Given the description of an element on the screen output the (x, y) to click on. 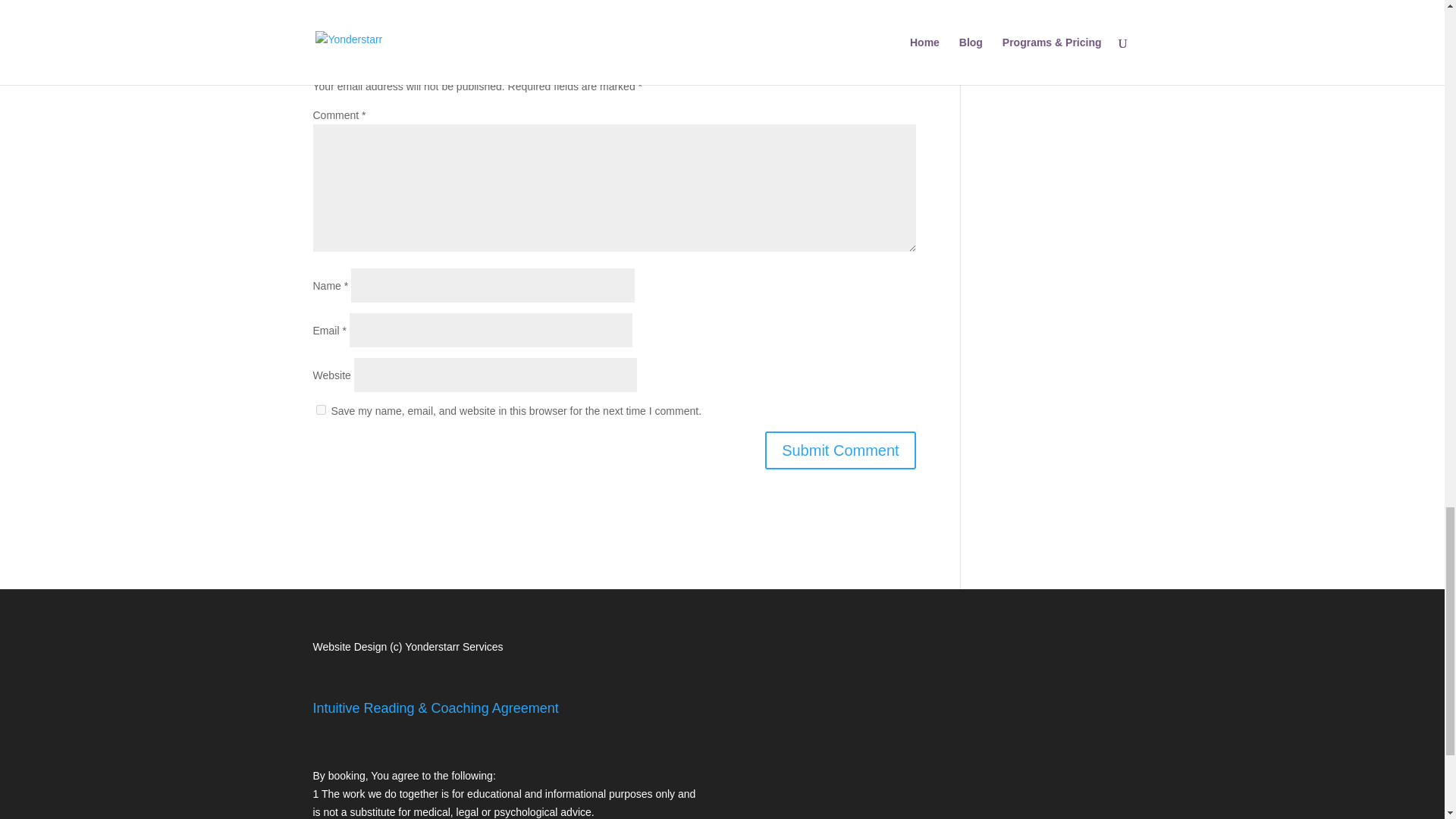
Submit Comment (840, 450)
yes (319, 409)
Submit Comment (840, 450)
